Given the description of an element on the screen output the (x, y) to click on. 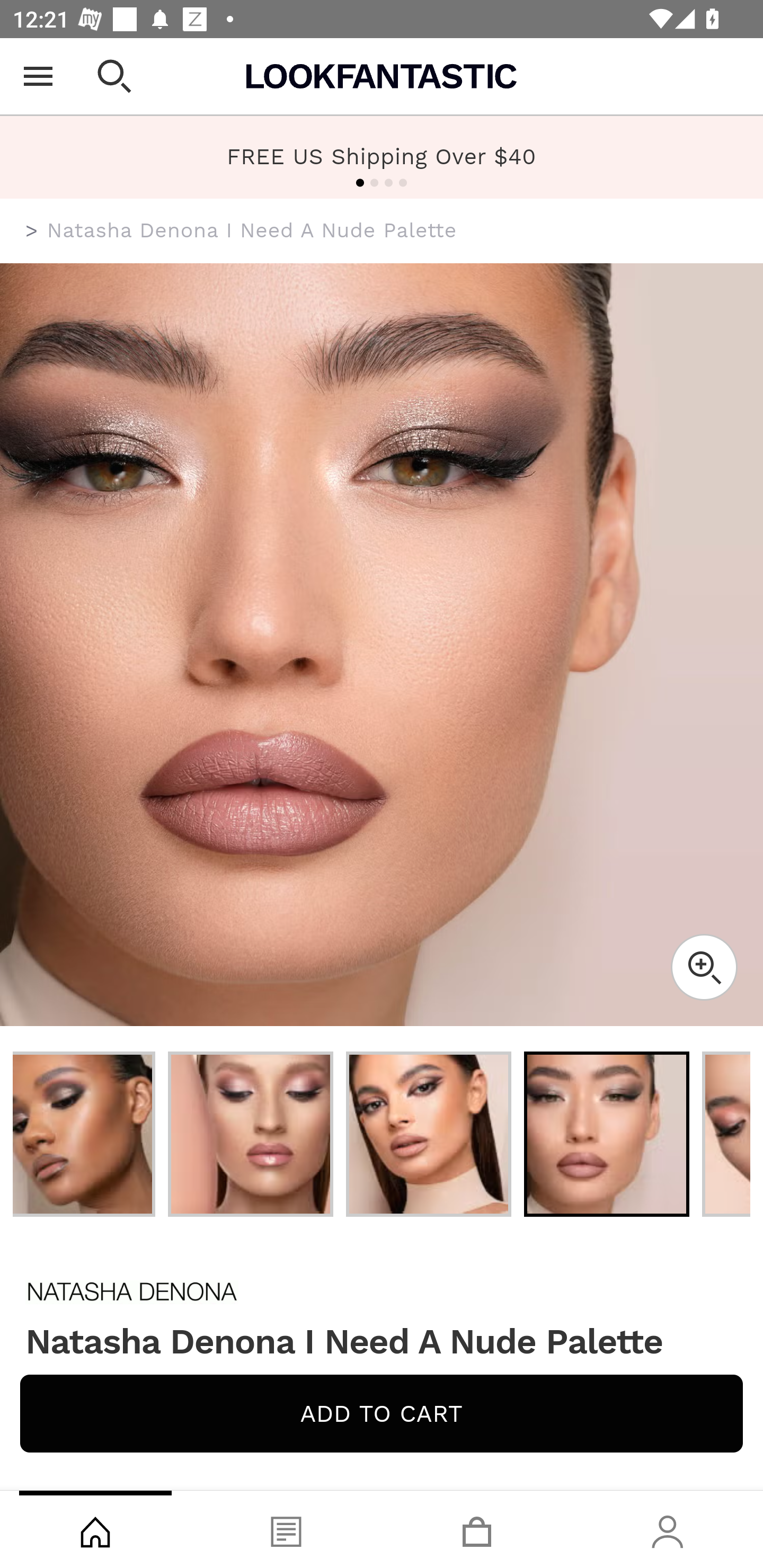
Open Menu (38, 75)
Open search (114, 75)
Lookfantastic USA (381, 75)
FREE US Shipping Over $40 (381, 157)
FREE US Shipping Over $40 (381, 155)
us.lookfantastic (32, 230)
Zoom (703, 966)
Natasha Denona (381, 1291)
Add to cart (381, 1413)
Shop, tab, 1 of 4 (95, 1529)
Blog, tab, 2 of 4 (285, 1529)
Basket, tab, 3 of 4 (476, 1529)
Account, tab, 4 of 4 (667, 1529)
